Given the description of an element on the screen output the (x, y) to click on. 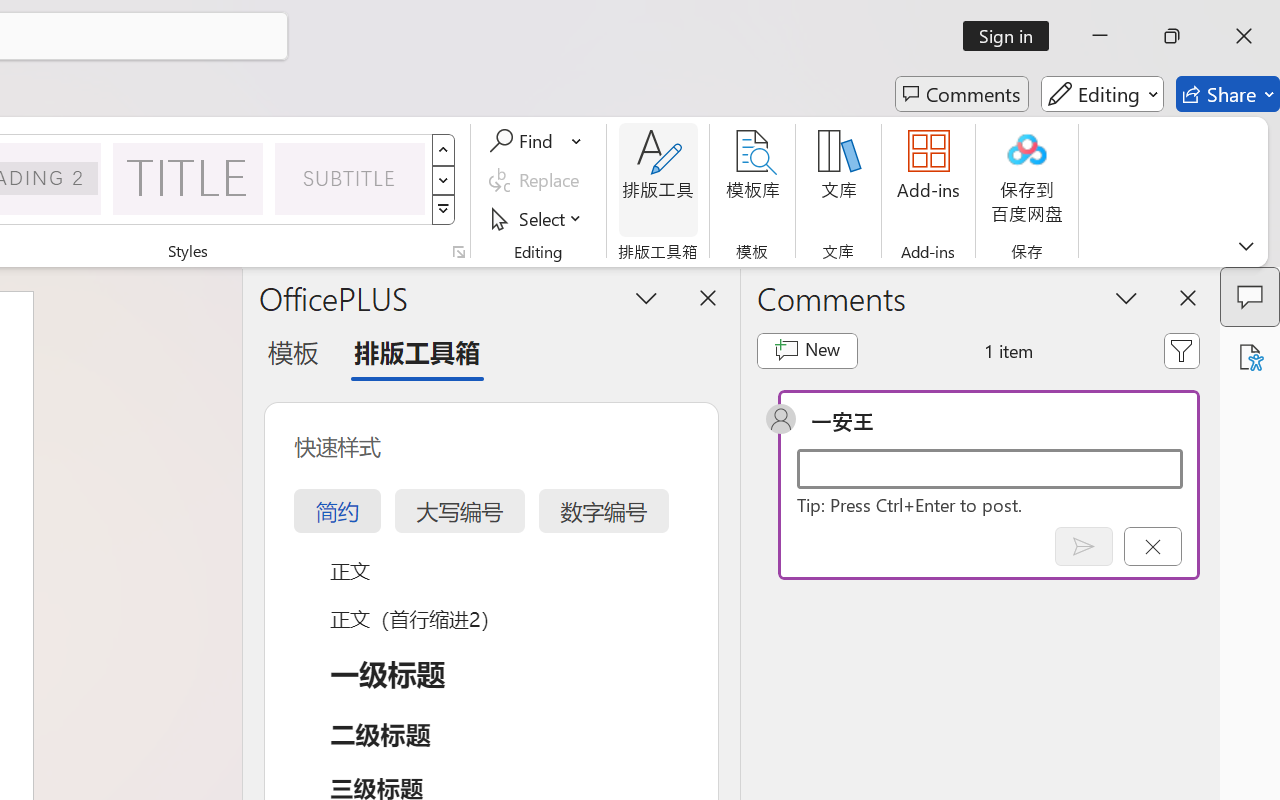
Cancel (1152, 546)
Title (187, 178)
